Given the description of an element on the screen output the (x, y) to click on. 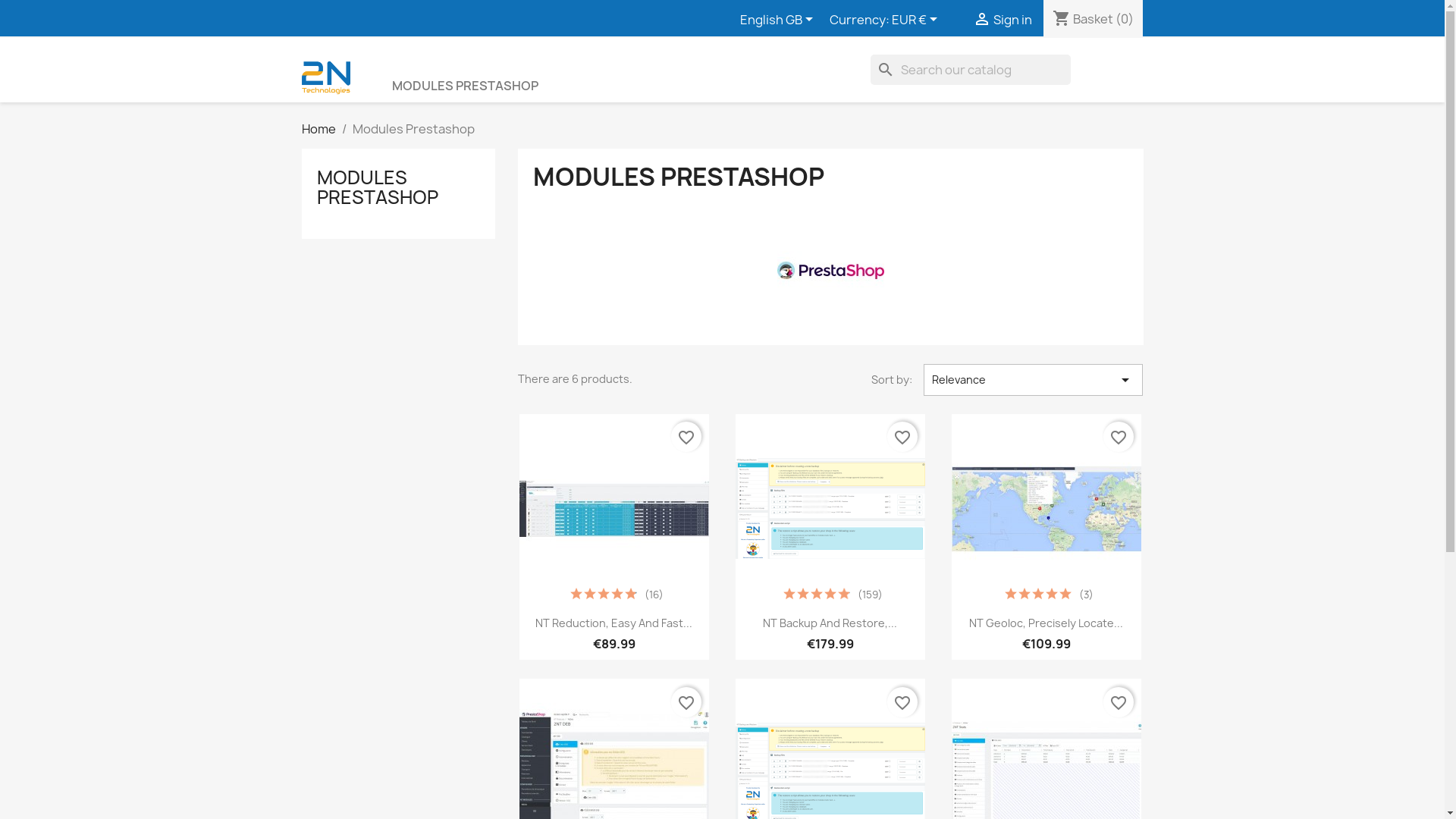
favorite_border Element type: text (902, 436)
Home Element type: text (318, 128)
favorite_border Element type: text (1118, 702)
MODULES PRESTASHOP Element type: text (377, 187)
NT Backup And Restore,... Element type: text (829, 622)
favorite_border Element type: text (686, 436)
NT Geoloc, Precisely Locate... Element type: text (1046, 622)
MODULES PRESTASHOP Element type: text (465, 85)
favorite_border Element type: text (1118, 436)
favorite_border Element type: text (686, 702)
NT Reduction, Easy And Fast... Element type: text (613, 622)
favorite_border Element type: text (902, 702)
